Given the description of an element on the screen output the (x, y) to click on. 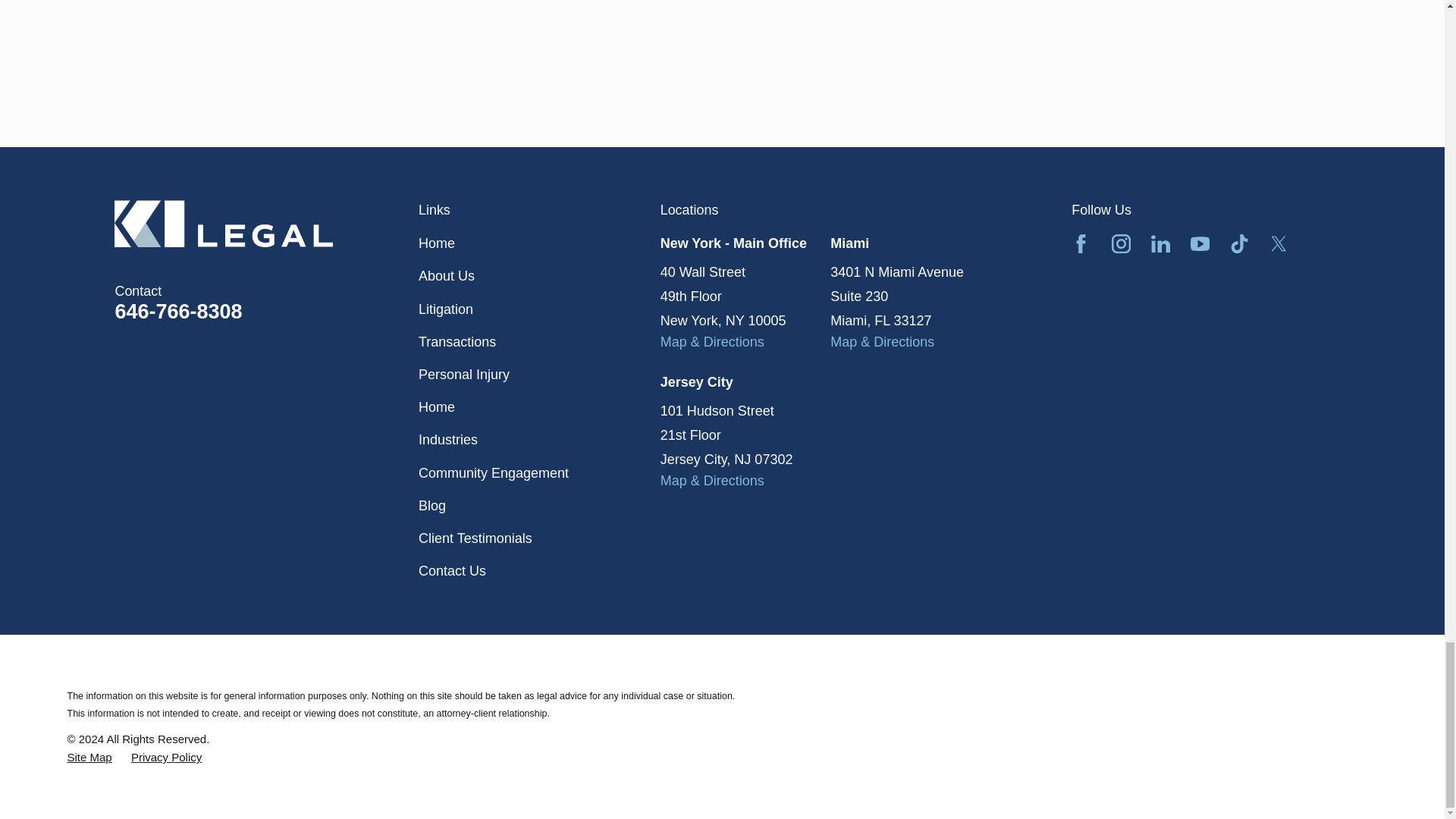
KI Legal (224, 223)
Facebook (1080, 243)
Instagram (1121, 243)
Home (267, 223)
